Given the description of an element on the screen output the (x, y) to click on. 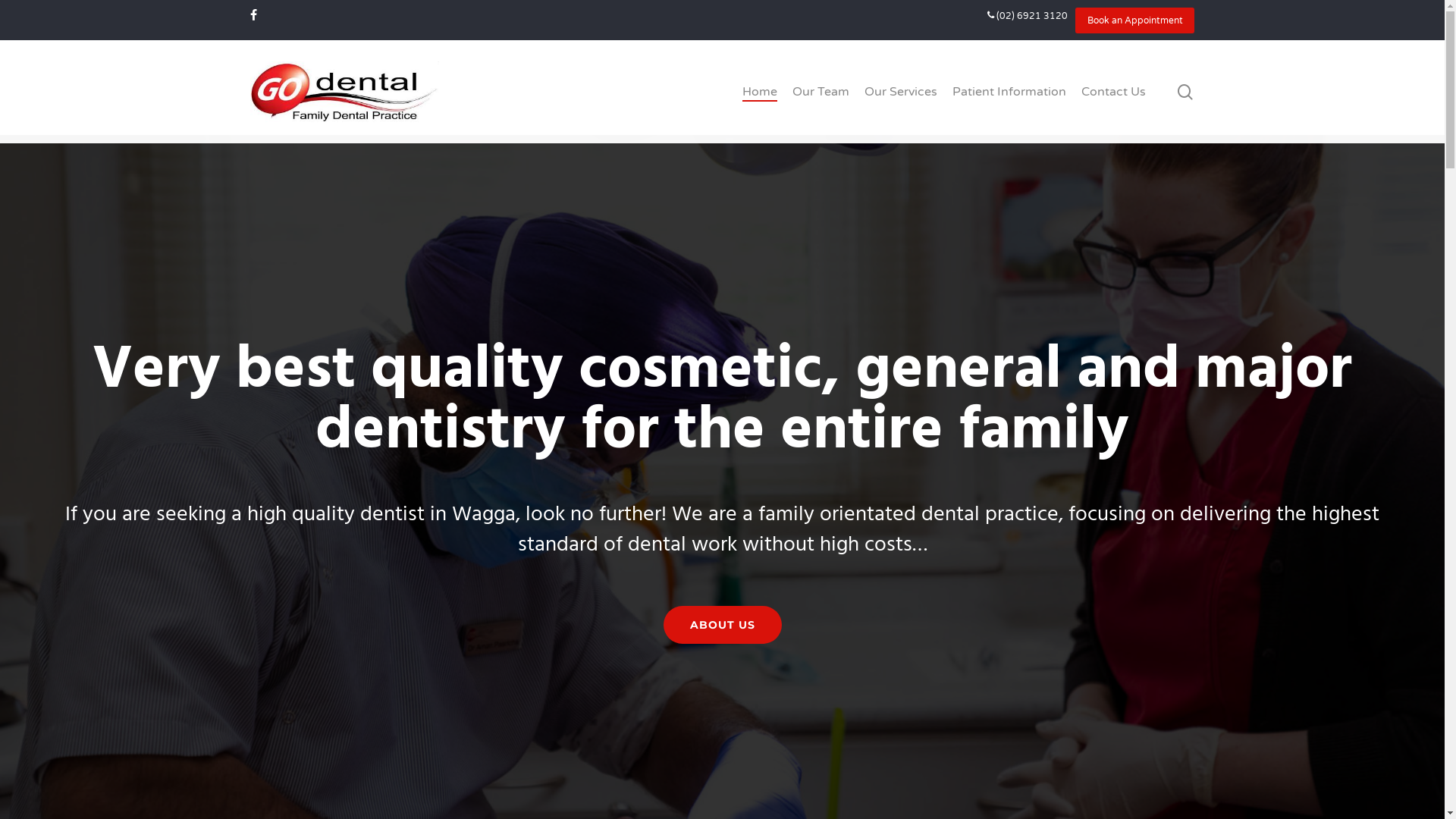
Home Element type: text (759, 91)
Our Team Element type: text (820, 91)
Book an Appointment Element type: text (1135, 20)
search Element type: text (1185, 91)
Our Services Element type: text (900, 91)
Patient Information Element type: text (1009, 91)
facebook Element type: text (253, 15)
Contact Us Element type: text (1113, 91)
(02) 6921 3120 Element type: text (1027, 15)
ABOUT US Element type: text (721, 624)
